Given the description of an element on the screen output the (x, y) to click on. 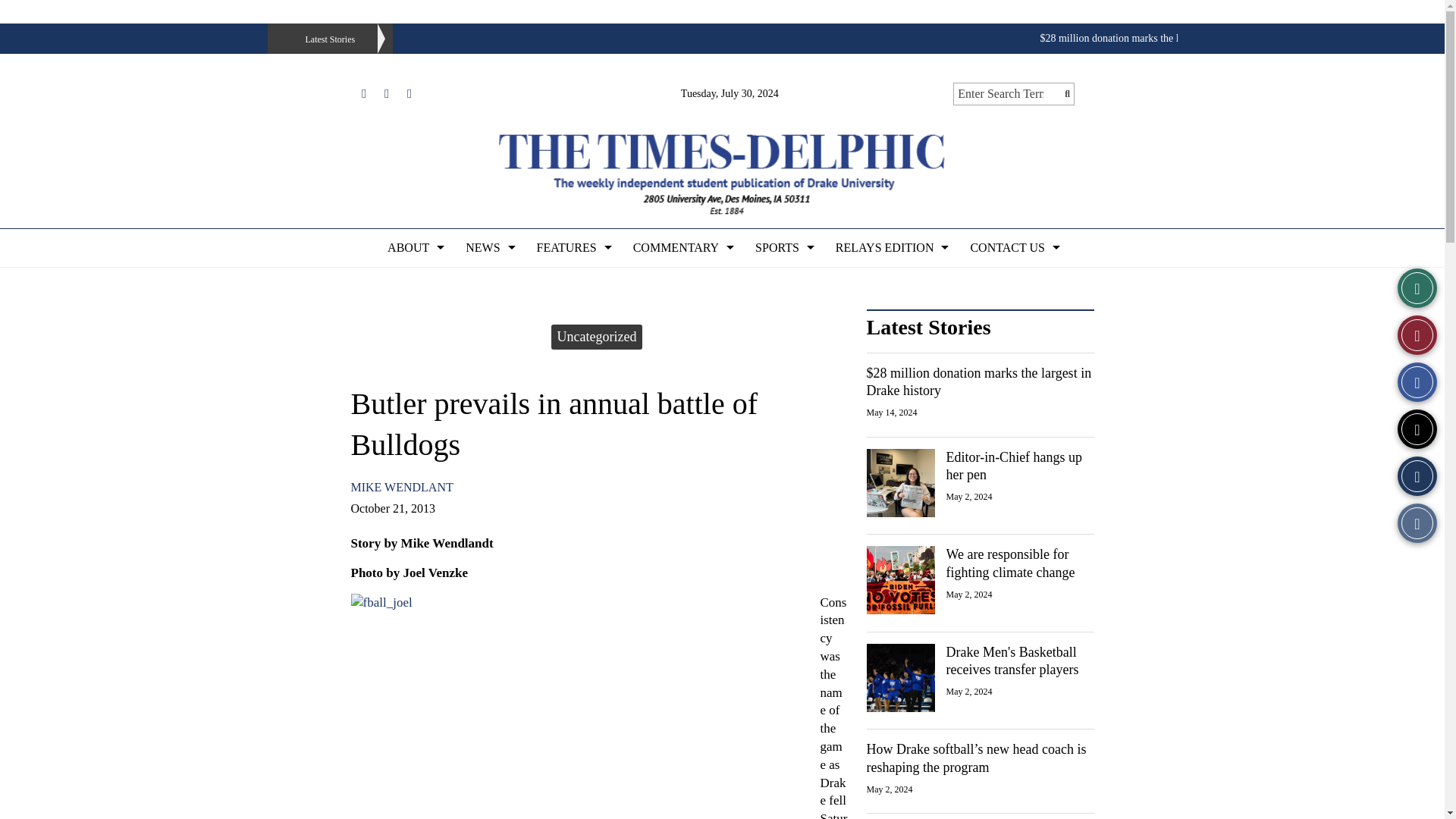
FEATURES (572, 247)
COMMENTARY (681, 247)
NEWS (488, 247)
SPORTS (783, 247)
ABOUT (413, 247)
